Given the description of an element on the screen output the (x, y) to click on. 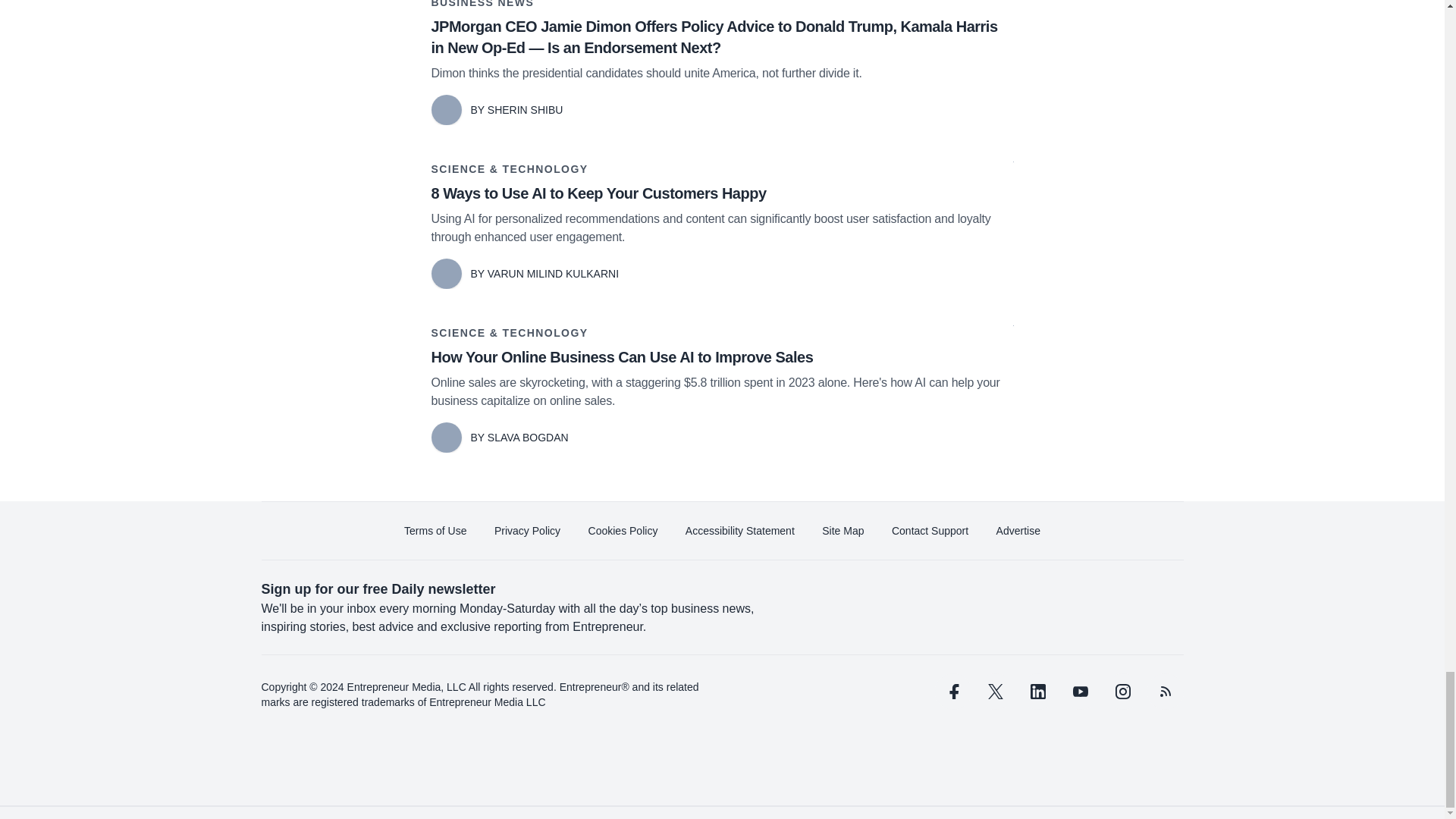
instagram (1121, 691)
youtube (1079, 691)
linkedin (1037, 691)
twitter (994, 691)
rss (1164, 691)
facebook (952, 691)
